Given the description of an element on the screen output the (x, y) to click on. 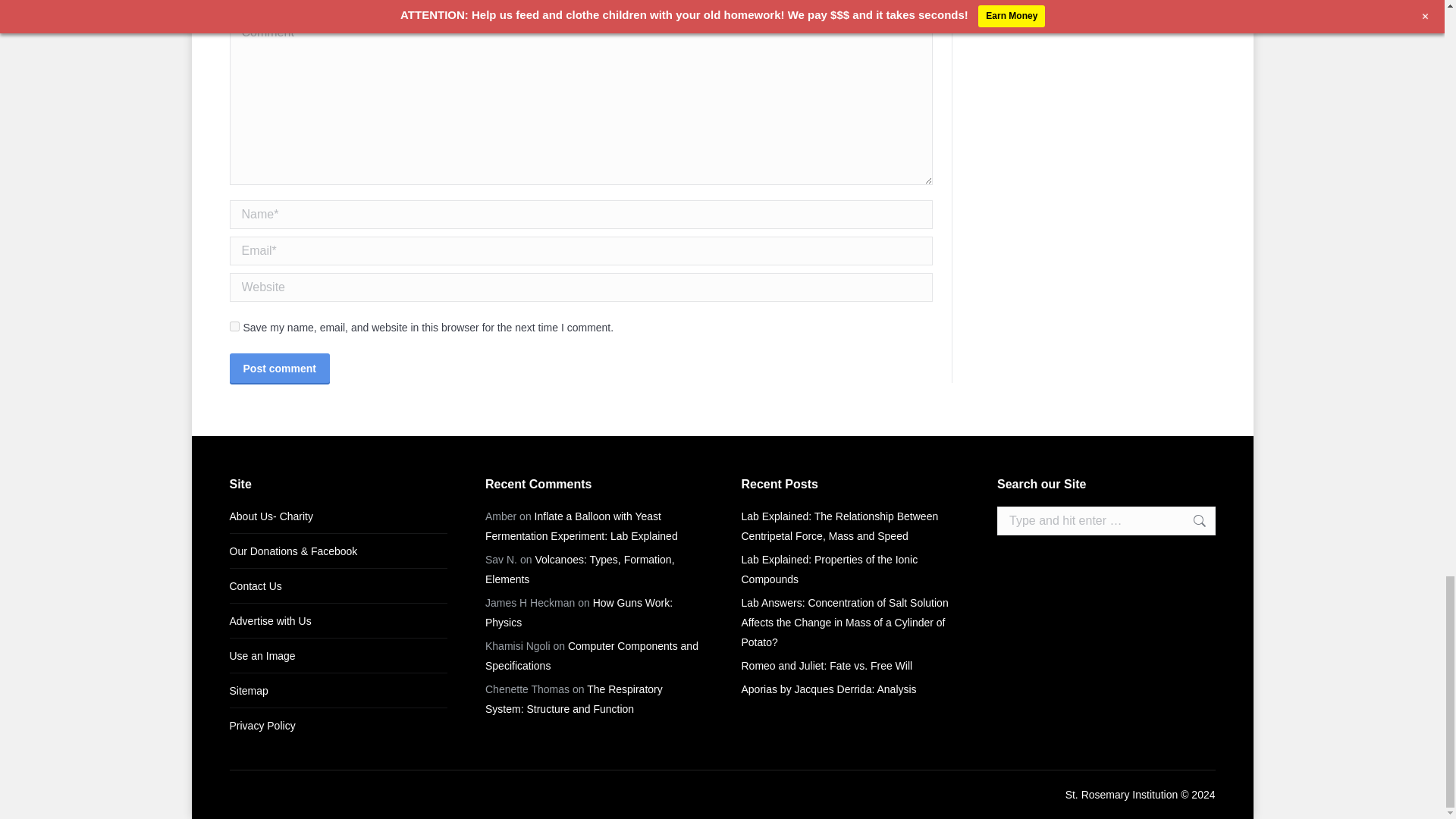
Contact Us (254, 586)
yes (233, 326)
Post comment (278, 367)
About Us- Charity (270, 516)
Go! (1191, 520)
Go! (1191, 520)
Advertise with Us (269, 620)
